Given the description of an element on the screen output the (x, y) to click on. 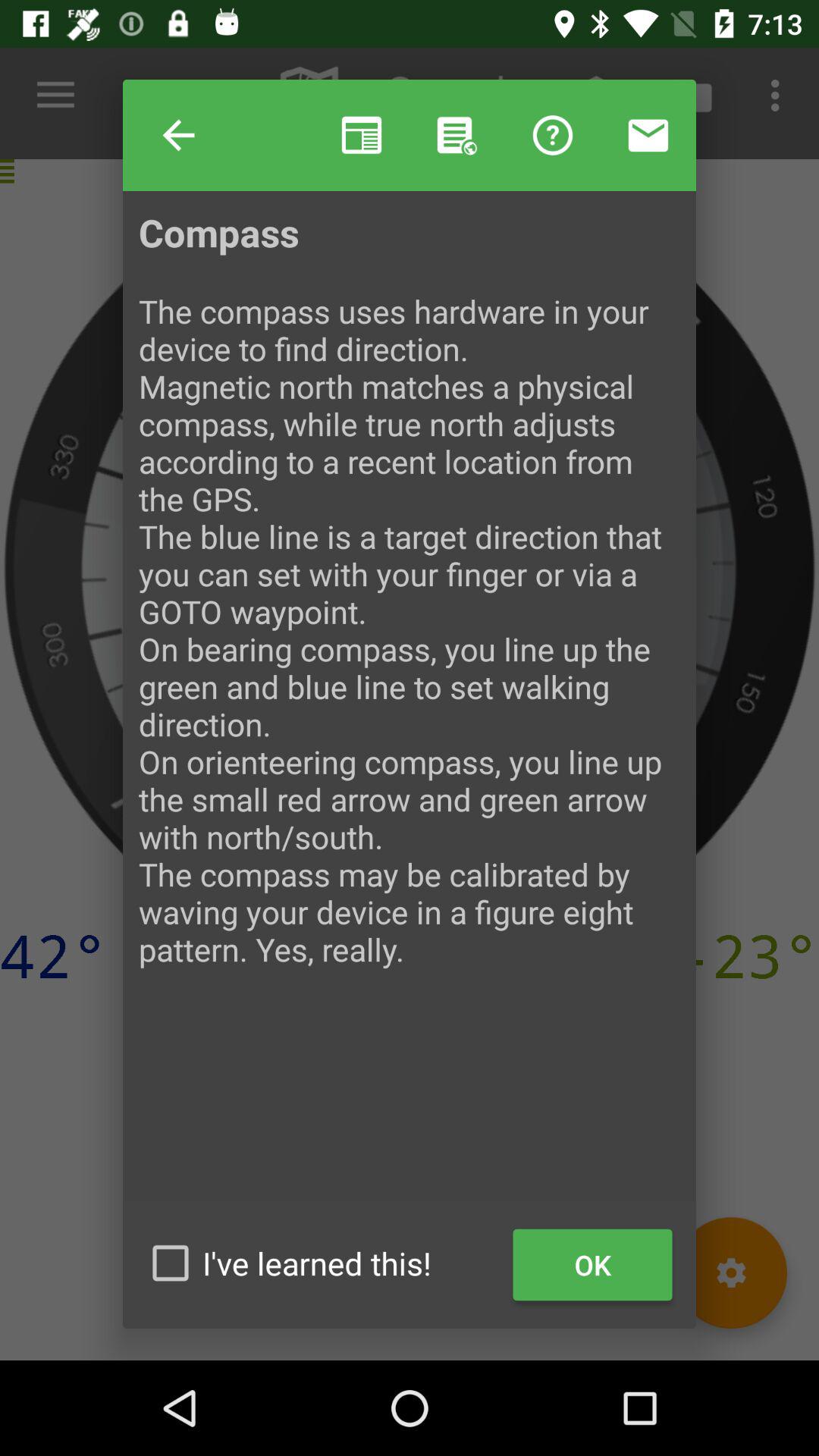
scroll to compass the compass (409, 704)
